Given the description of an element on the screen output the (x, y) to click on. 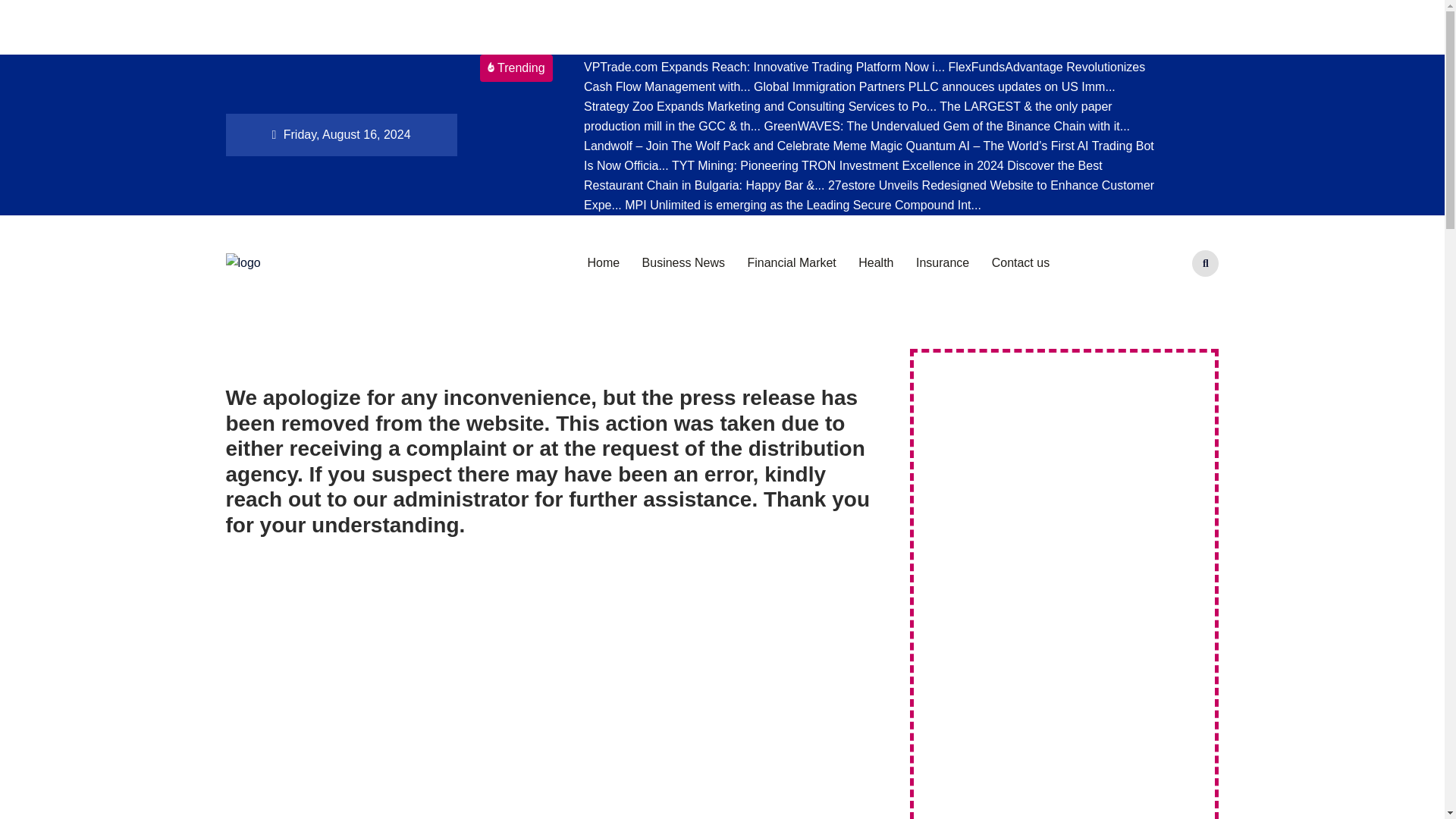
Financial Market (790, 263)
tickers TradingView widget (722, 27)
Trending (515, 67)
Friday, August 16, 2024 (341, 134)
